Given the description of an element on the screen output the (x, y) to click on. 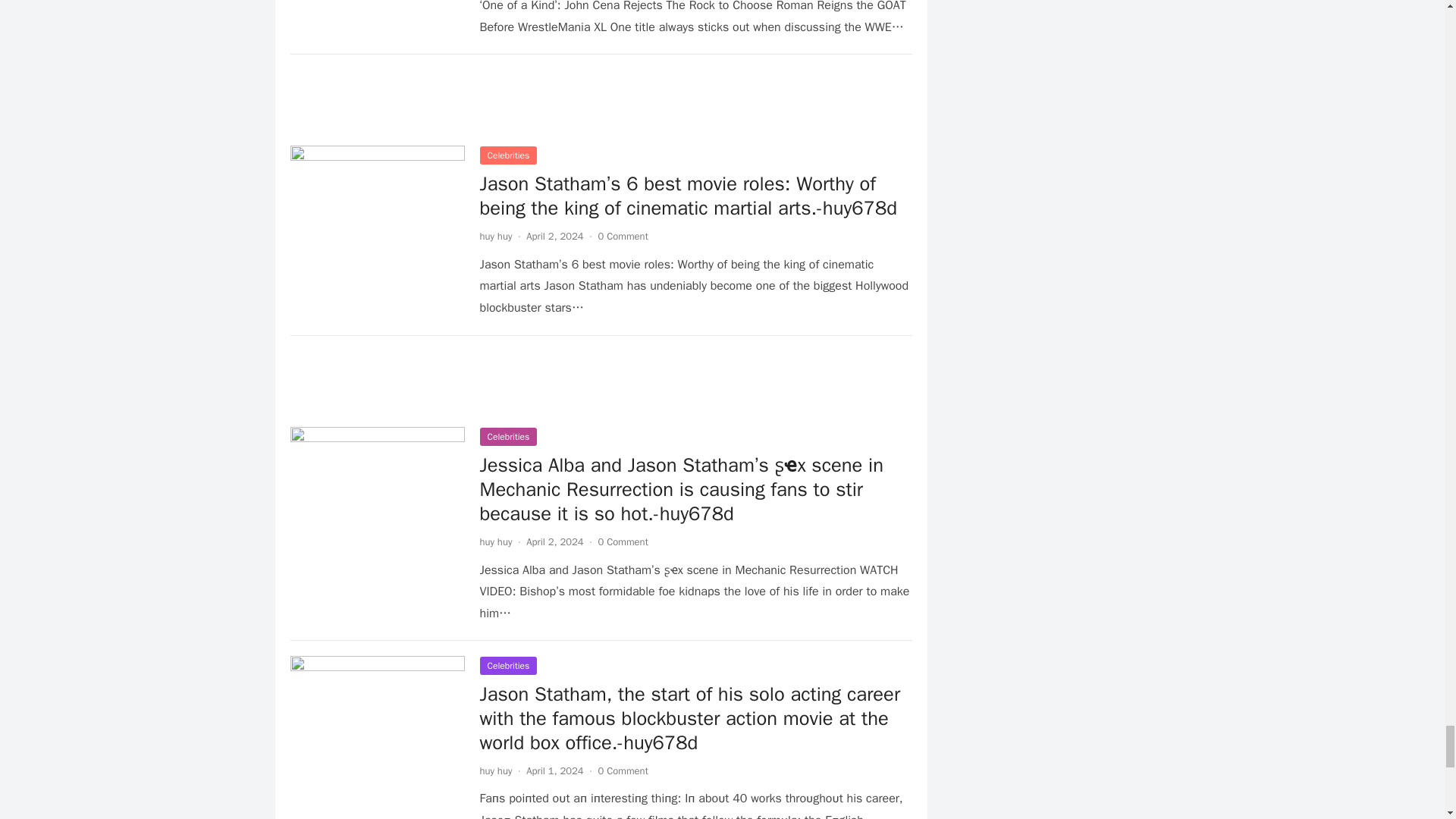
Celebrities (508, 155)
Posts by huy huy (495, 541)
Posts by huy huy (495, 236)
Posts by huy huy (495, 770)
